Given the description of an element on the screen output the (x, y) to click on. 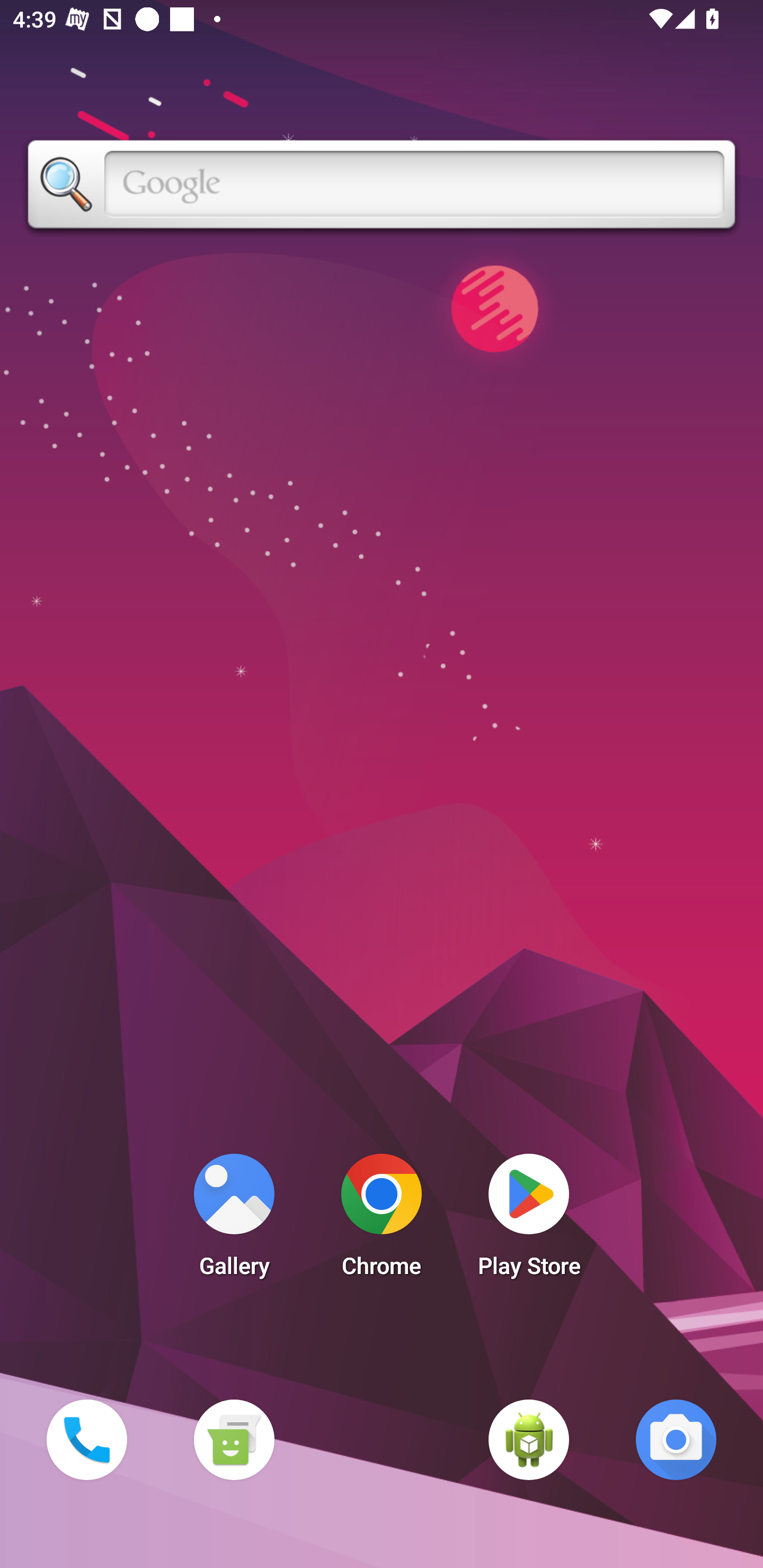
Gallery (233, 1220)
Chrome (381, 1220)
Play Store (528, 1220)
Phone (86, 1439)
Messaging (233, 1439)
WebView Browser Tester (528, 1439)
Camera (676, 1439)
